Given the description of an element on the screen output the (x, y) to click on. 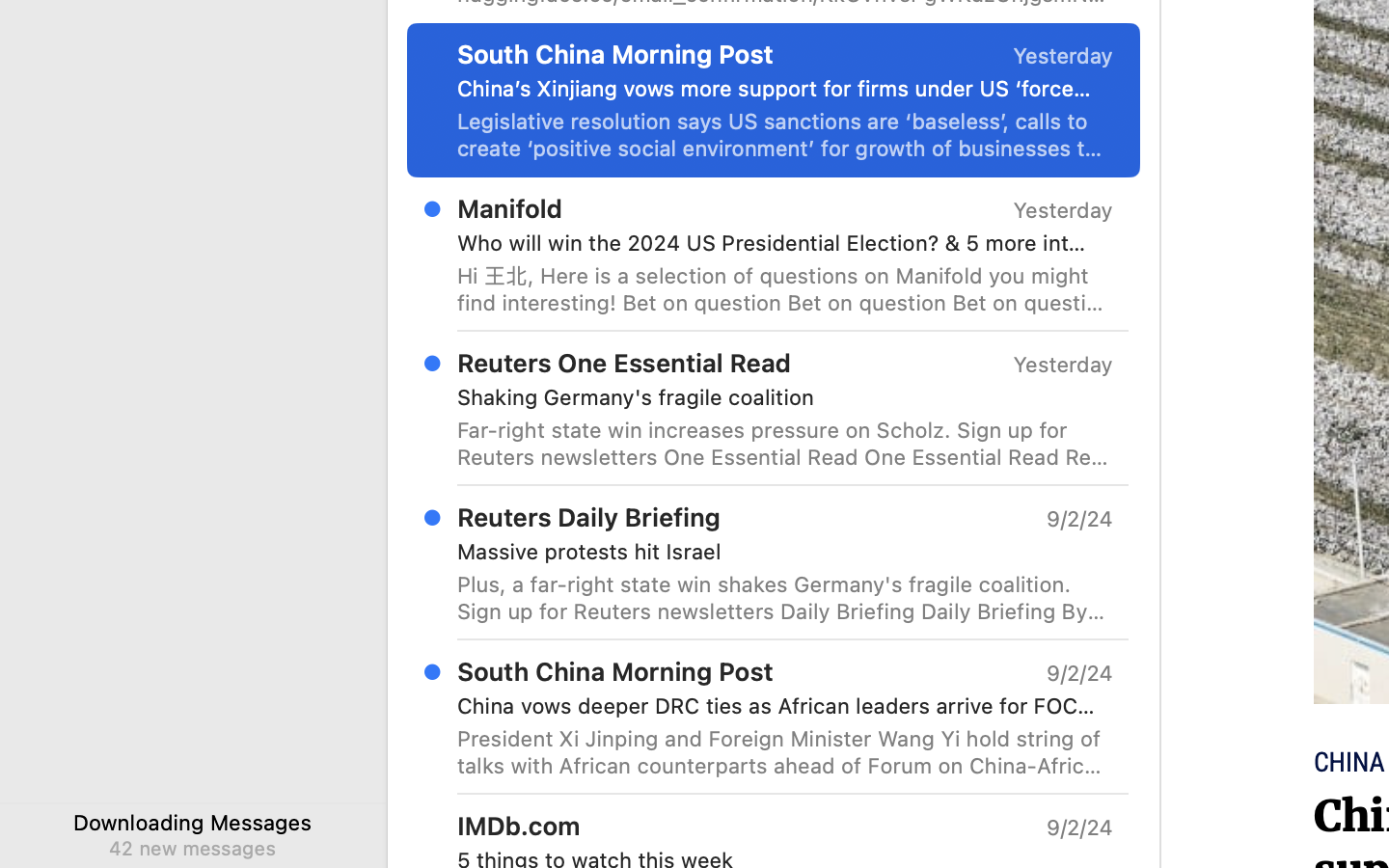
Yesterday Element type: AXStaticText (1062, 55)
CHINA Element type: AXStaticText (1349, 762)
President Xi Jinping and Foreign Minister Wang Yi hold string of talks with African counterparts ahead of Forum on China-Africa ... - South China Morning Post, SCMP, SCMP Today: Intl Edition - President Xi Jinping and Foreign Minister Wang Yi hold string of talks with African counterparts ahead of Forum on China-Africa ... Monday 2nd September, 2024 China politics & diplomacy ChinaChina vows deeper DRC ties as African leaders arrive for FOCAC meetings2 Sep, 2024 - 05:13 pmPresident Xi Jinping and Foreign Minister Wang Yi hold string of talks with African counterparts ahead of Forum on China-Africa Cooperation. EconomyChina moves to curb money worship, extravagance and excess in financial sector2 Sep, 2024 - 04:04 pm EconomyChina’s yuan to continue to gain, but outlook hinges on Fed rate cuts: analysts2 Sep, 2024 - 05:42 pm Featured Podcast3. Millennials, GenZ and hire education Video Of The Day Hong Kong’s youngest Paralympic medallist Jasmine Ng clinches swimming bronze at age 14OPINI Element type: AXStaticText (784, 752)
Shaking Germany's fragile coalition Element type: AXStaticText (777, 396)
2,072 messages, 959 unread Element type: AXStaticText (722, 732)
